Given the description of an element on the screen output the (x, y) to click on. 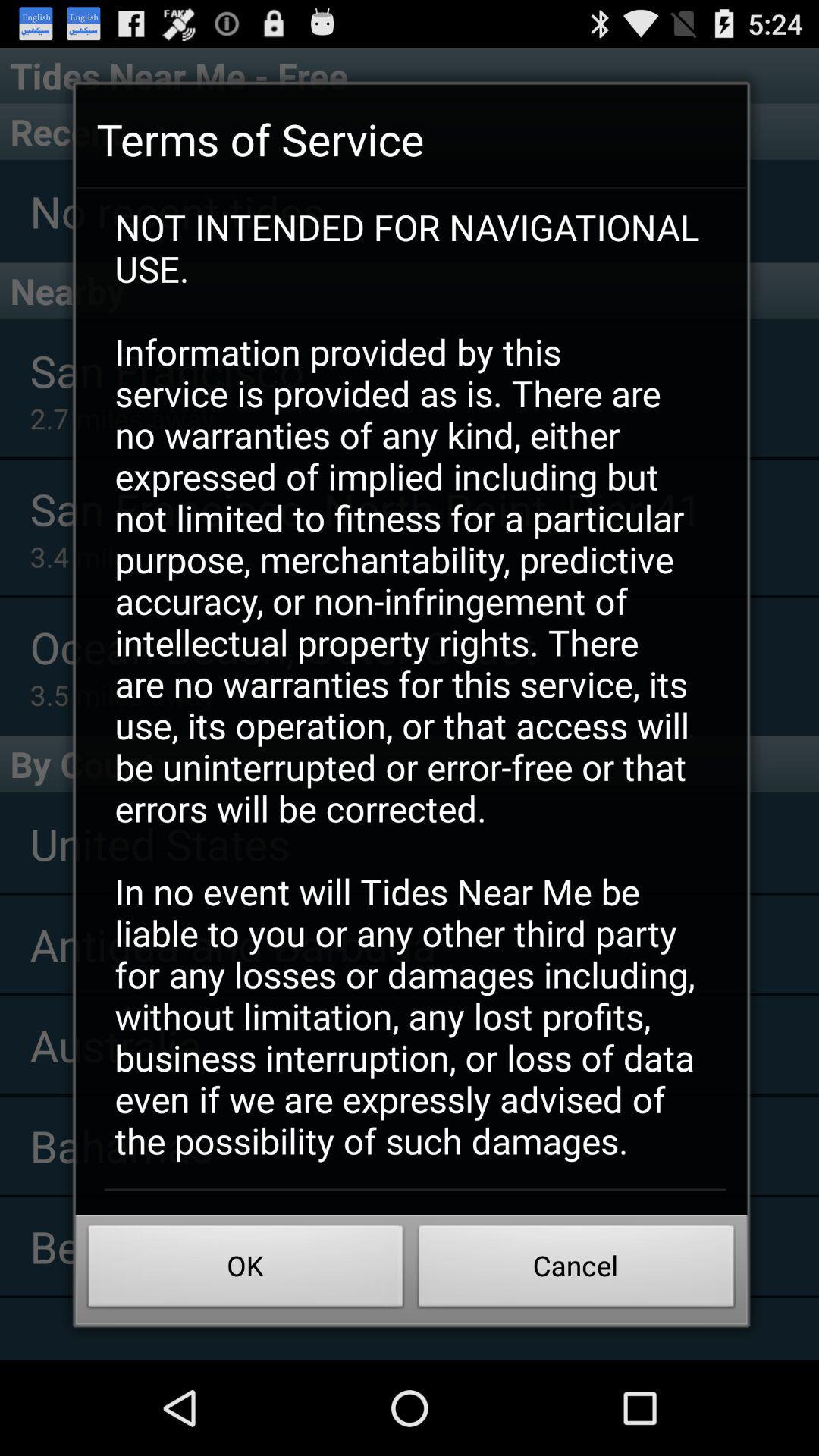
swipe to the ok icon (245, 1270)
